Given the description of an element on the screen output the (x, y) to click on. 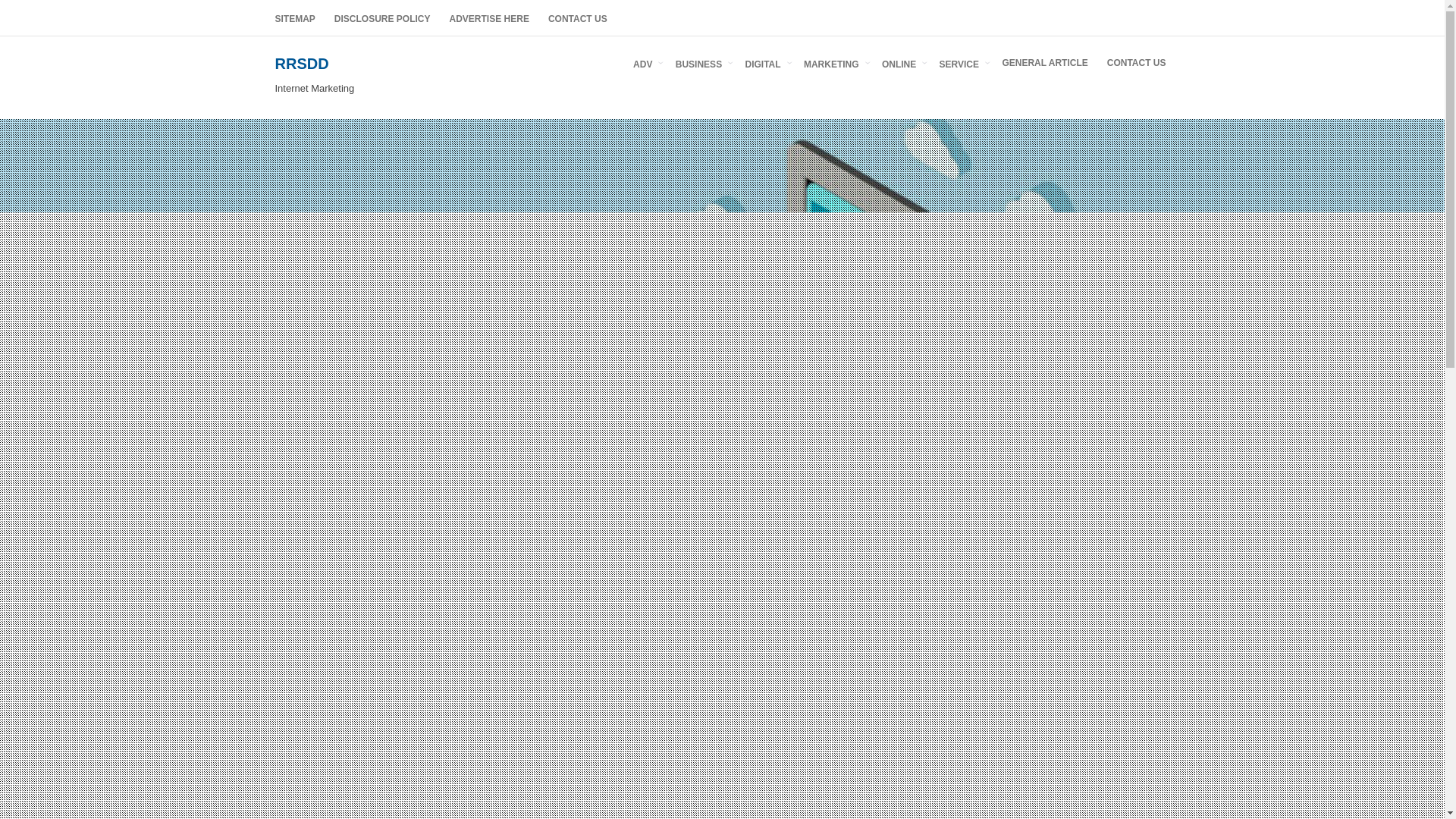
ADVERTISE HERE (489, 18)
SERVICE (961, 62)
RRSDD (302, 63)
CONTACT US (1136, 61)
BUSINESS (700, 62)
MARKETING (833, 62)
DIGITAL (764, 62)
SITEMAP (293, 18)
CONTACT US (577, 18)
ONLINE (901, 62)
ADV (644, 62)
DISCLOSURE POLICY (382, 18)
GENERAL ARTICLE (1044, 61)
